Given the description of an element on the screen output the (x, y) to click on. 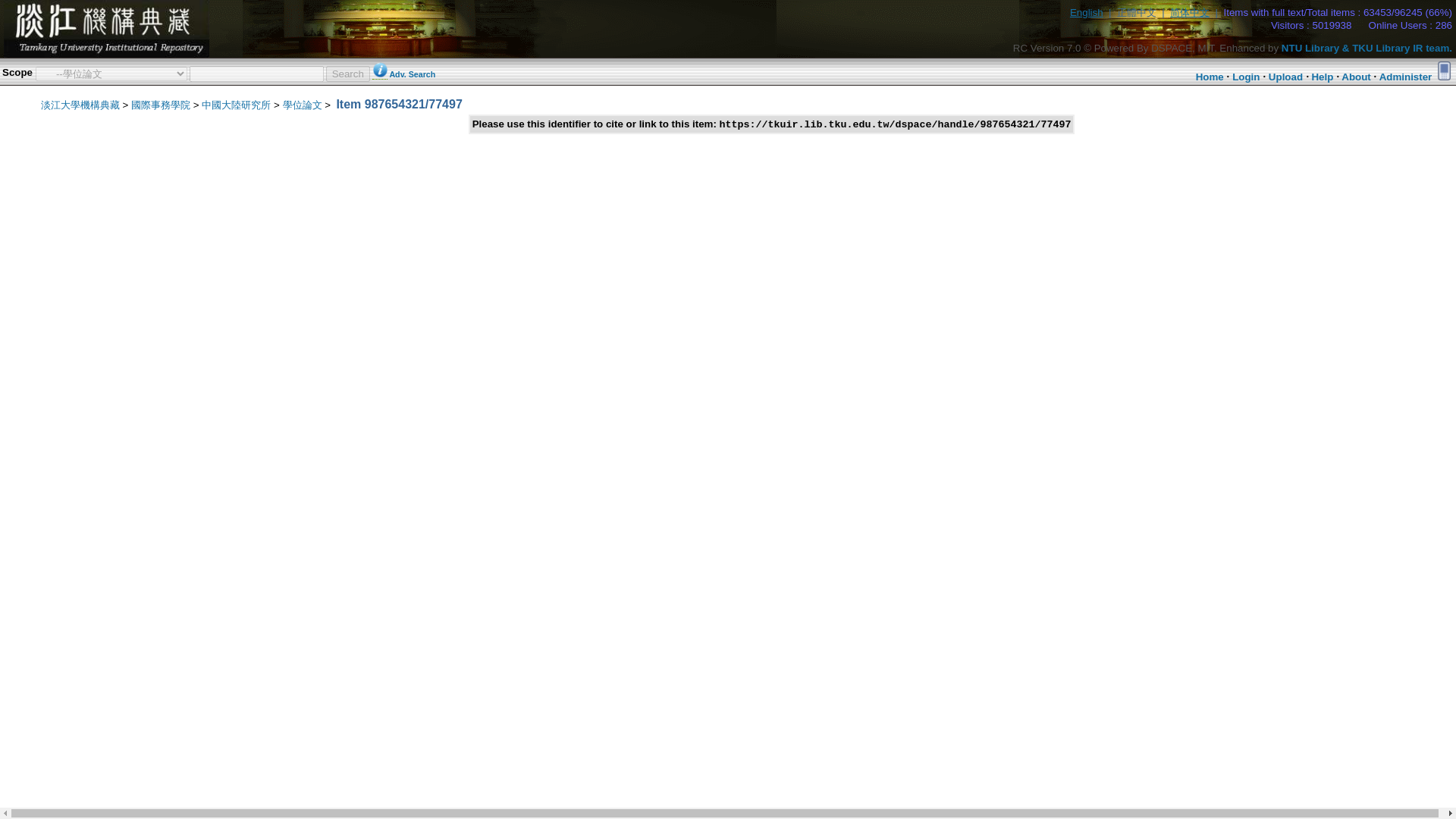
Home (1209, 76)
Help (1322, 76)
Search (347, 73)
Administer (1405, 76)
Adv. Search (411, 73)
Upload (1285, 76)
Search (347, 73)
Login (1245, 76)
About (1355, 76)
Goto mobile version (1443, 69)
English (1087, 12)
